Given the description of an element on the screen output the (x, y) to click on. 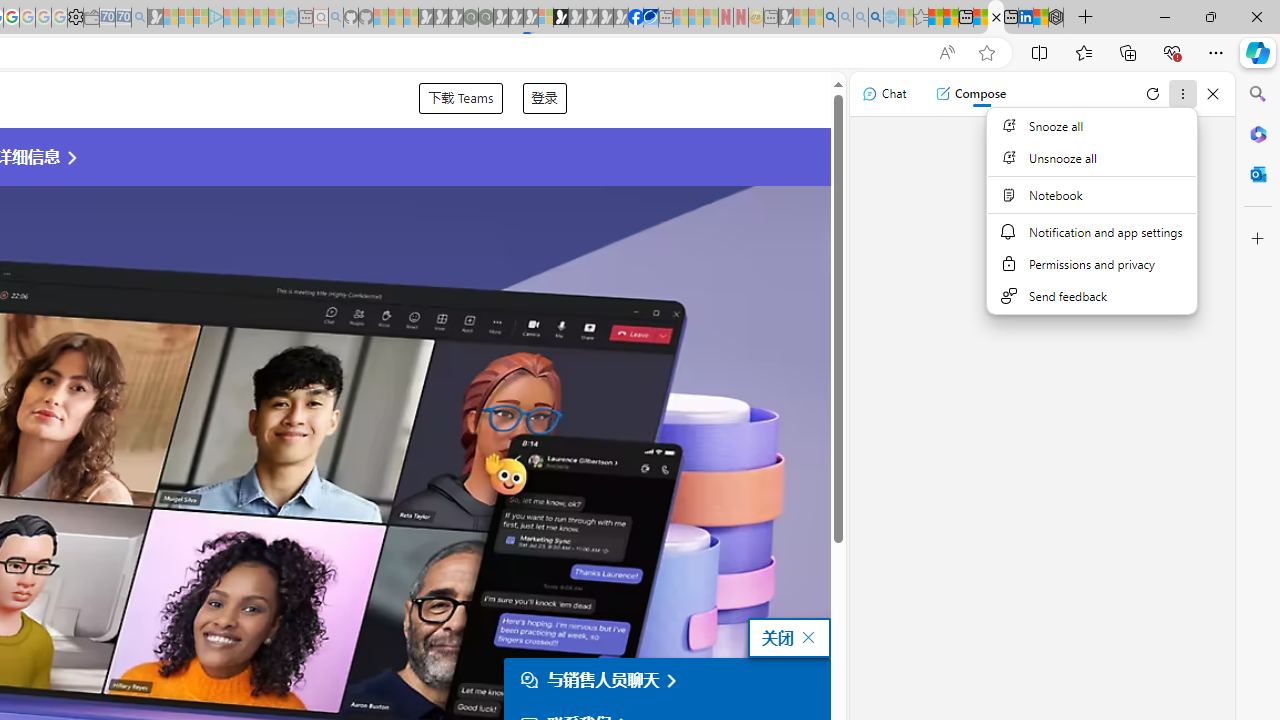
Aberdeen, Hong Kong SAR weather forecast | Microsoft Weather (950, 17)
Send feedback (1091, 295)
Sign in to your account - Sleeping (545, 17)
Snooze all (1091, 125)
Google Chrome Internet Browser Download - Search Images (876, 17)
Close Customize pane (1258, 239)
